Given the description of an element on the screen output the (x, y) to click on. 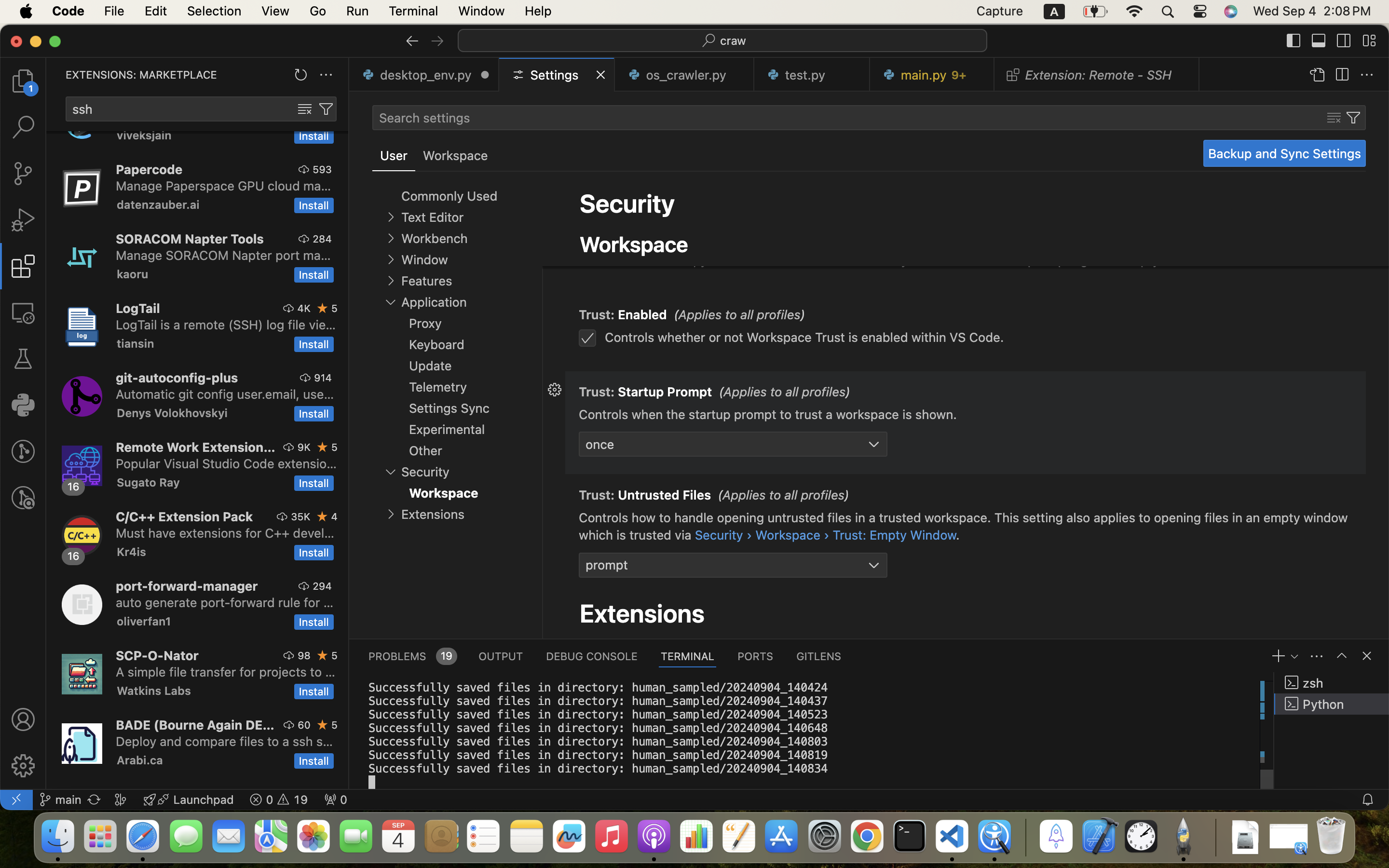
BADE (Bourne Again DEploy) Element type: AXStaticText (194, 724)
tiansin Element type: AXStaticText (135, 343)
Denys Volokhovskyi Element type: AXStaticText (171, 412)
16 Element type: AXStaticText (73, 555)
0 PORTS Element type: AXRadioButton (755, 655)
